Given the description of an element on the screen output the (x, y) to click on. 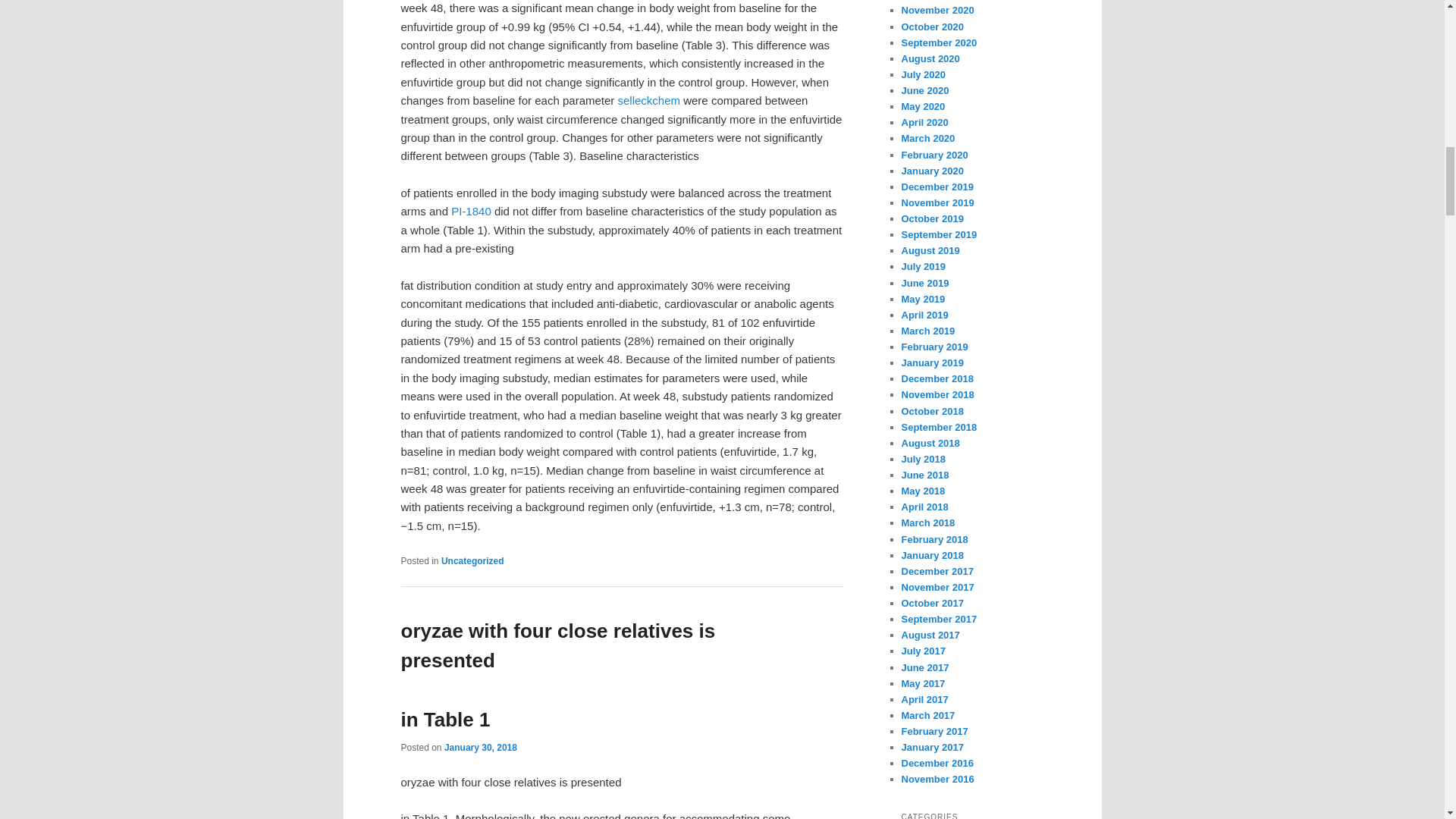
selleckchem (648, 100)
PI-1840 (471, 210)
January 30, 2018 (557, 675)
7:30 am (480, 747)
Uncategorized (480, 747)
View all posts in Uncategorized (472, 561)
